Given the description of an element on the screen output the (x, y) to click on. 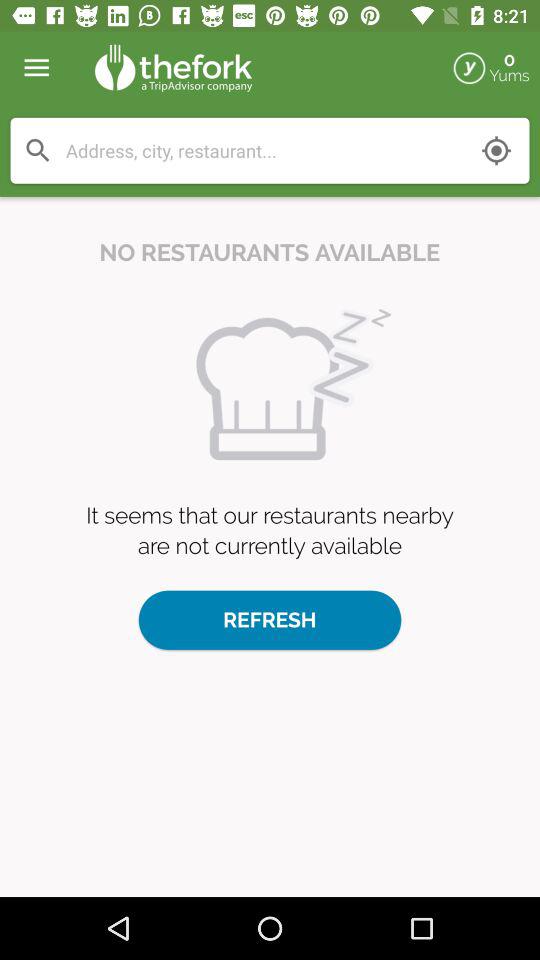
search keyterms (38, 150)
